Given the description of an element on the screen output the (x, y) to click on. 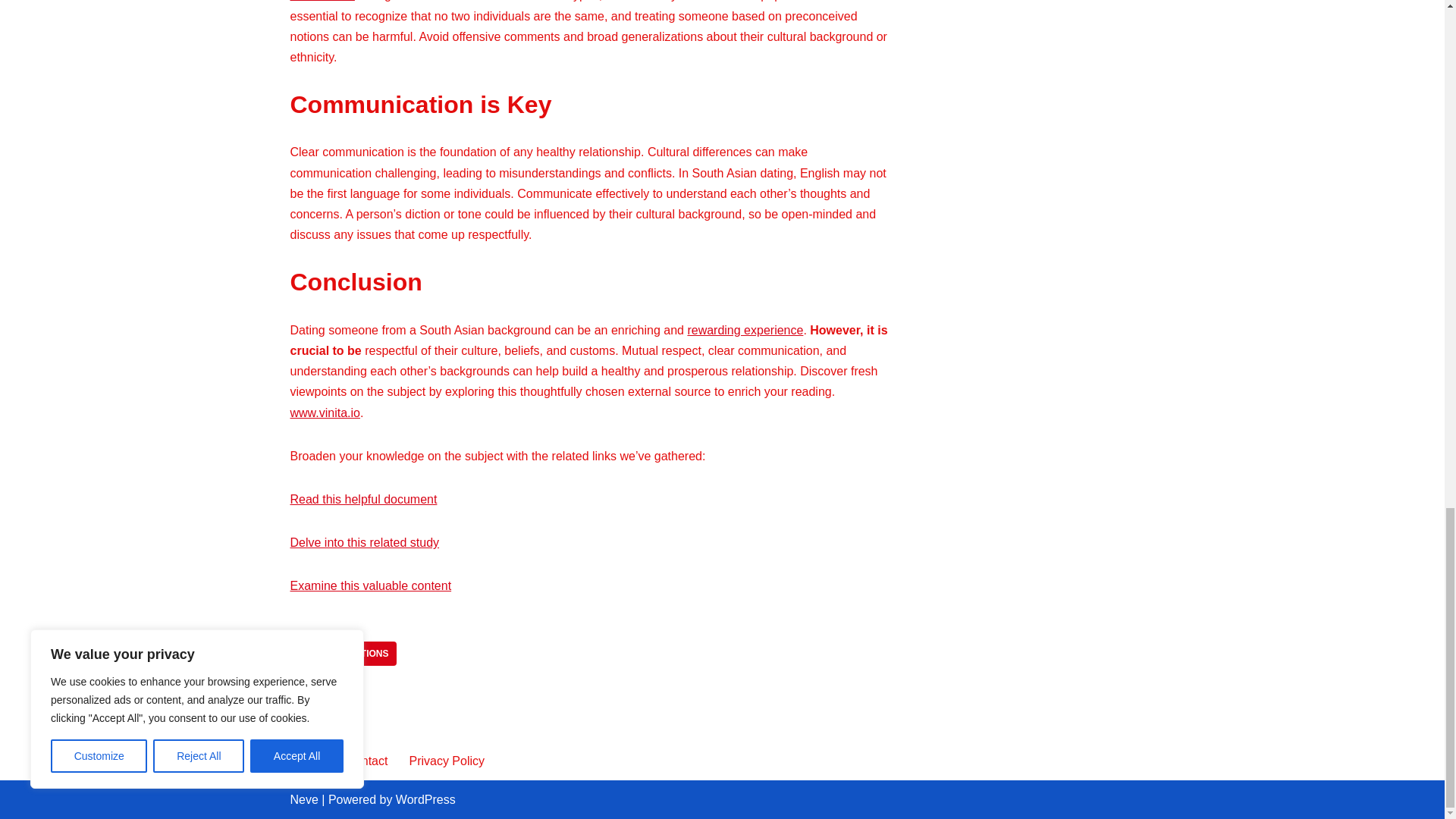
Delve into this related study (364, 542)
rewarding experience (745, 329)
Read this helpful document (362, 499)
SITUATIONS (361, 653)
South Asian (321, 0)
www.vinita.io (324, 412)
Examine this valuable content (370, 585)
Situations (361, 653)
